Given the description of an element on the screen output the (x, y) to click on. 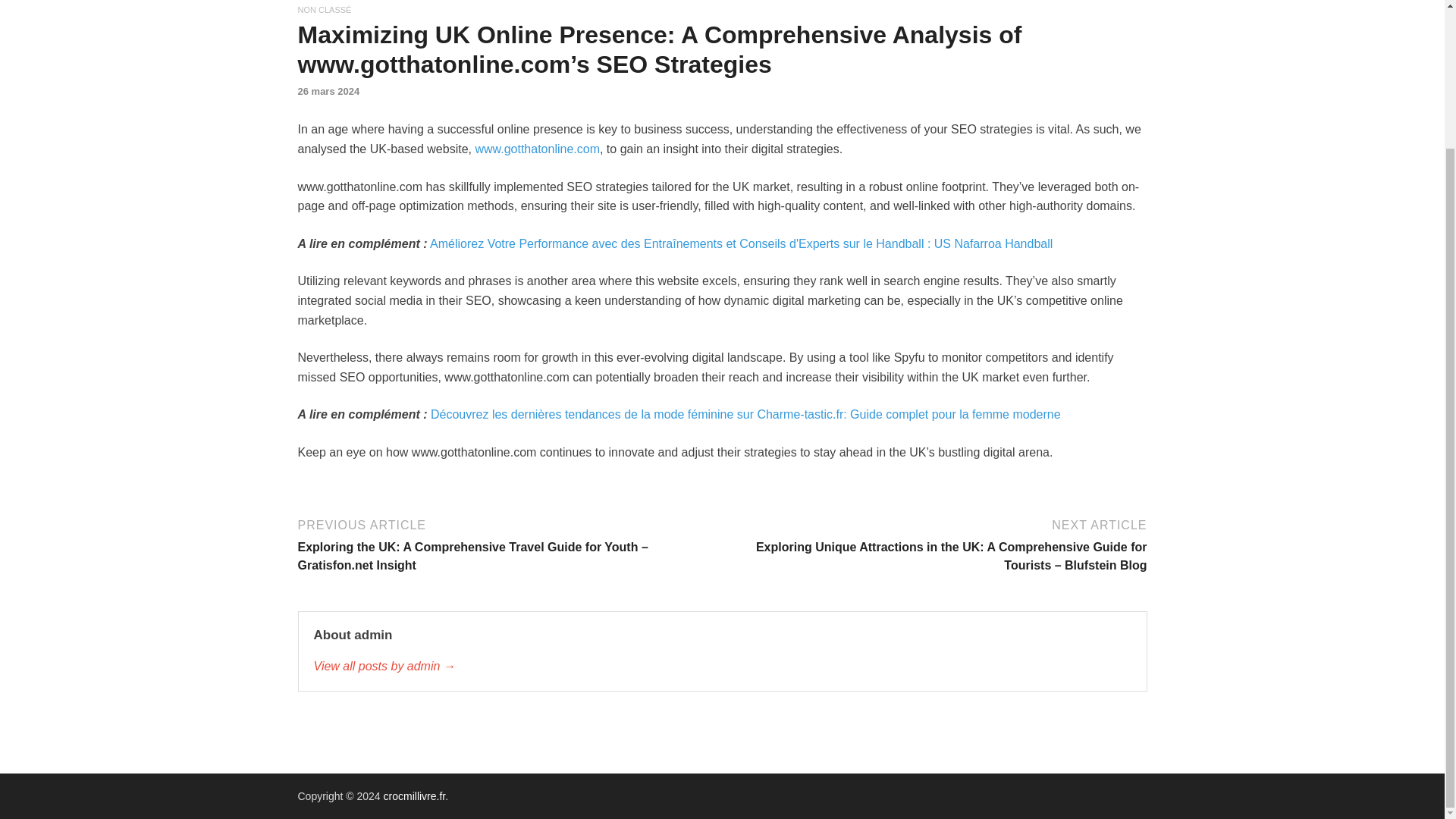
26 mars 2024 (328, 91)
crocmillivre.fr (414, 796)
www.gotthatonline.com (536, 148)
admin (722, 666)
crocmillivre.fr (414, 796)
